Given the description of an element on the screen output the (x, y) to click on. 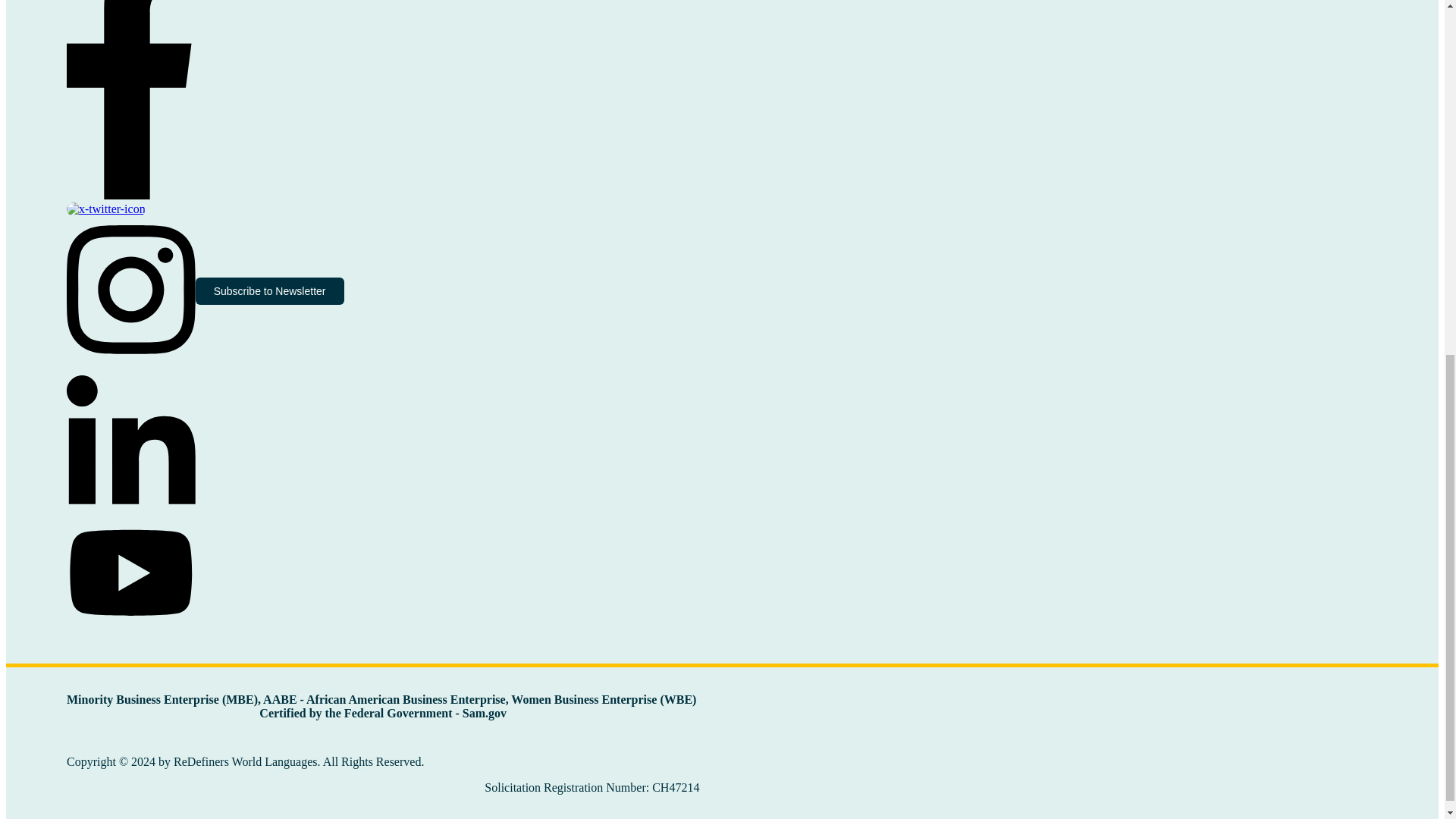
Follow us on Youtube (130, 572)
Follow us on Instagram (130, 358)
Follow us on Youtube (134, 684)
Follow us on Facebook (130, 195)
Subscribe to Newsletter (269, 290)
